Given the description of an element on the screen output the (x, y) to click on. 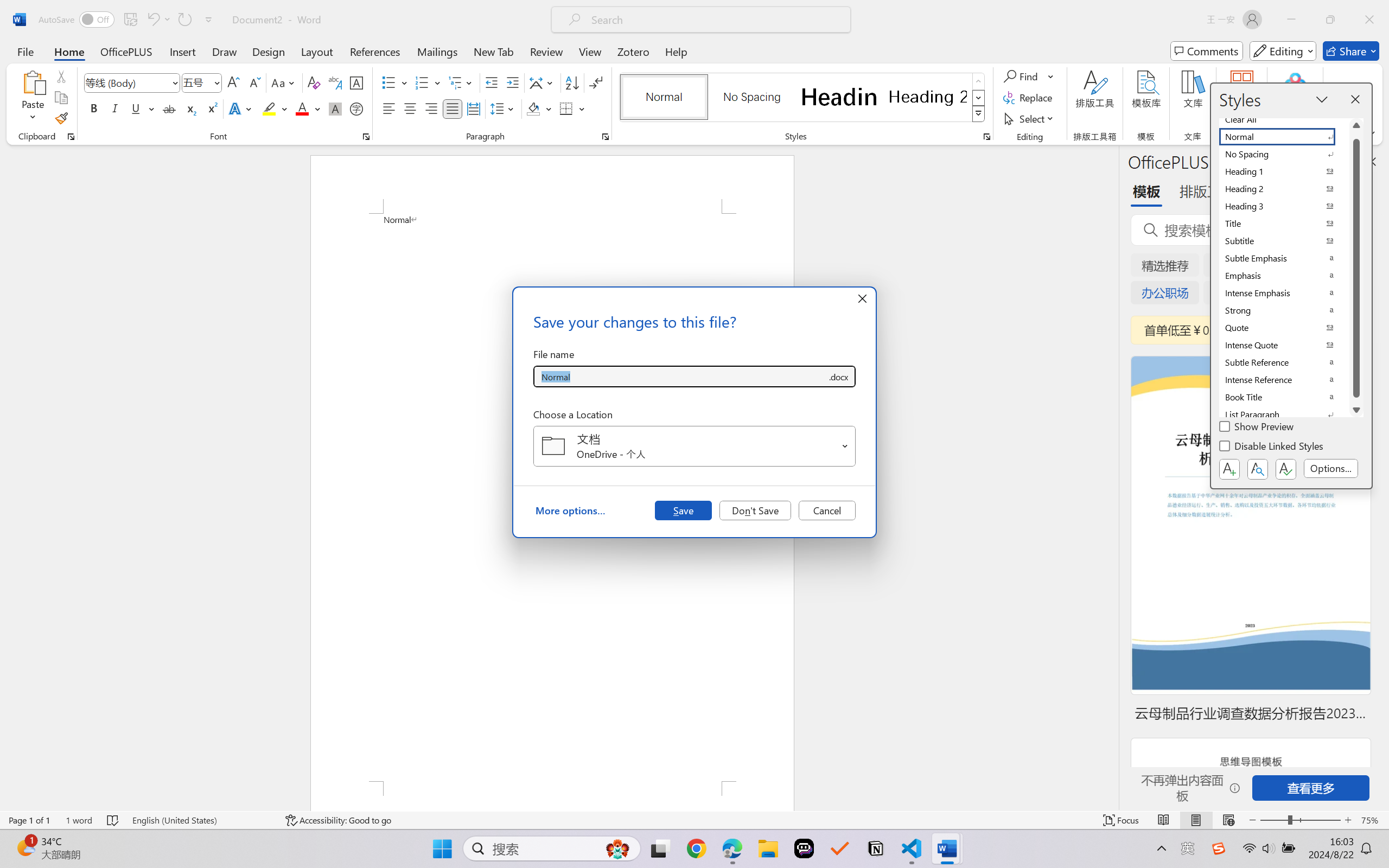
Word Count 1 word (78, 819)
Text Highlight Color (274, 108)
View (589, 51)
Styles (978, 113)
Borders (566, 108)
Shrink Font (253, 82)
Repeat Doc Close (184, 19)
Class: MsoCommandBar (694, 819)
Mailings (437, 51)
